Given the description of an element on the screen output the (x, y) to click on. 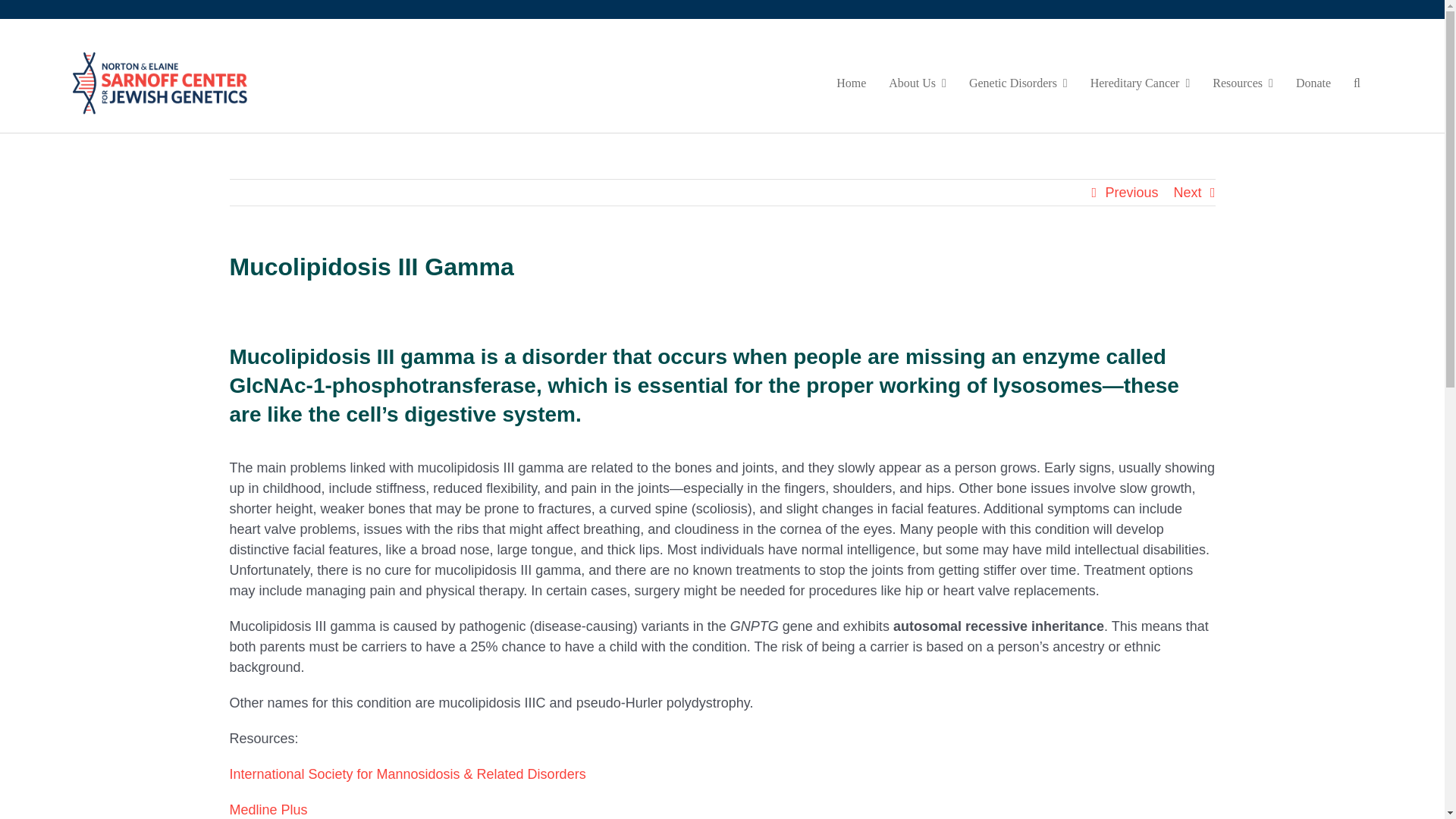
Hereditary Cancer (1140, 83)
Next (1187, 192)
Previous (1131, 192)
Genetic Disorders (1017, 83)
